Given the description of an element on the screen output the (x, y) to click on. 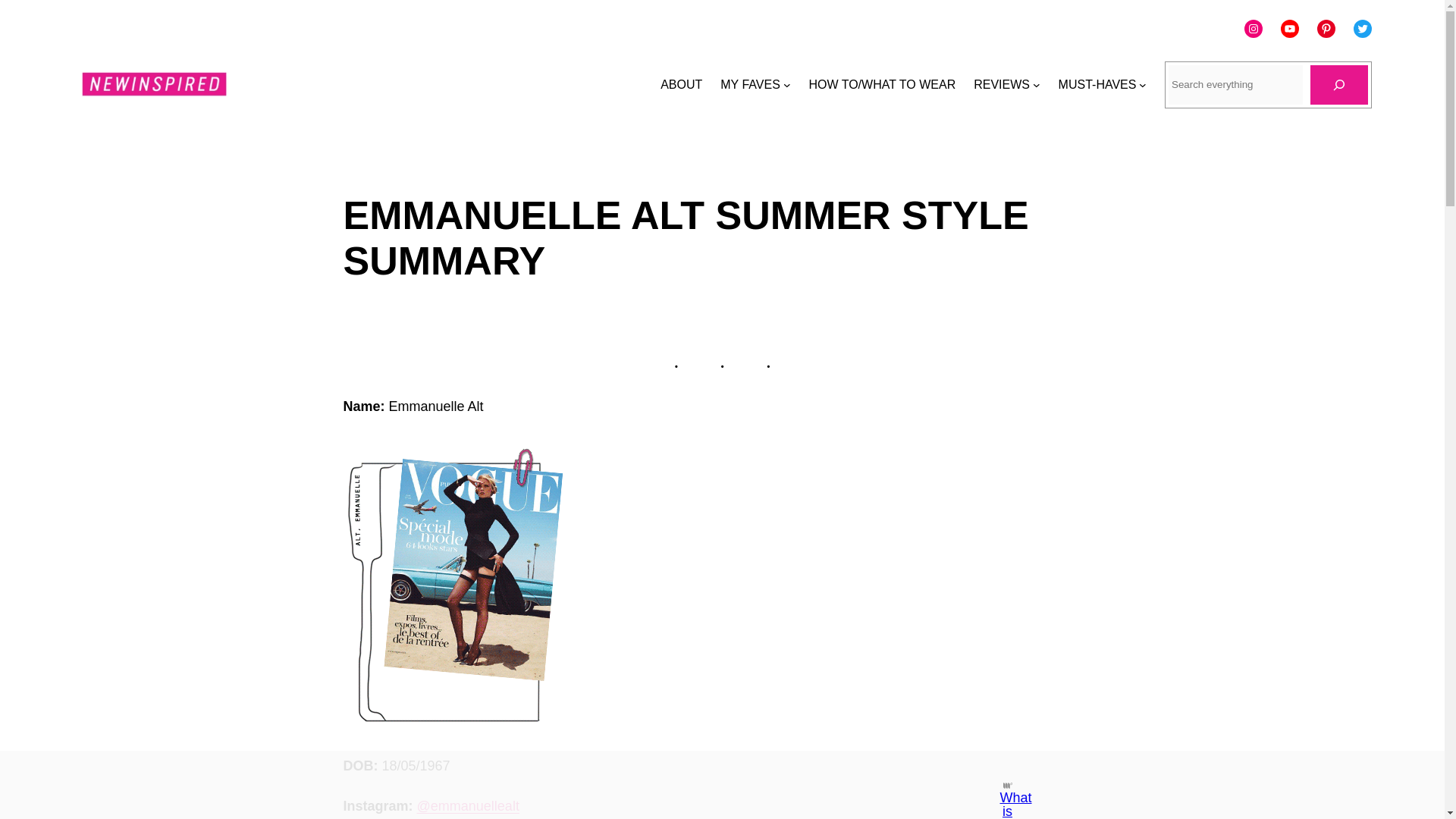
ABOUT (681, 85)
3rd party ad content (708, 785)
Pinterest (1326, 28)
REVIEWS (1001, 85)
MY FAVES (750, 85)
Instagram (1253, 28)
MUST-HAVES (1097, 85)
Twitter (1362, 28)
YouTube (1289, 28)
